Given the description of an element on the screen output the (x, y) to click on. 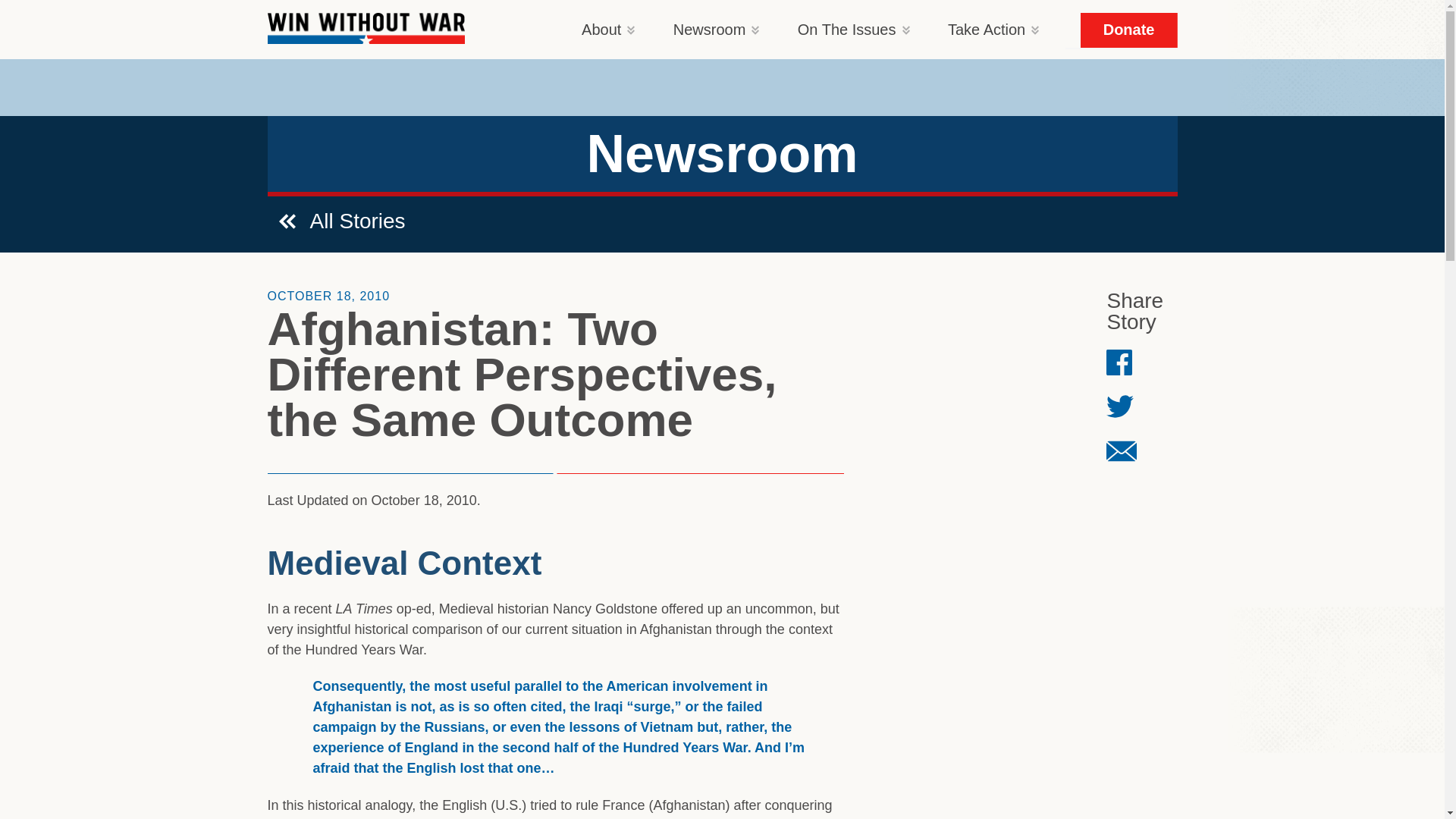
Newsroom (703, 29)
Share on Twitter (1120, 406)
Share on Facebook (1120, 362)
About (595, 29)
Take Action (980, 29)
On The Issues (841, 29)
Donate (1128, 30)
All Stories (342, 215)
Share via email (1121, 451)
